Given the description of an element on the screen output the (x, y) to click on. 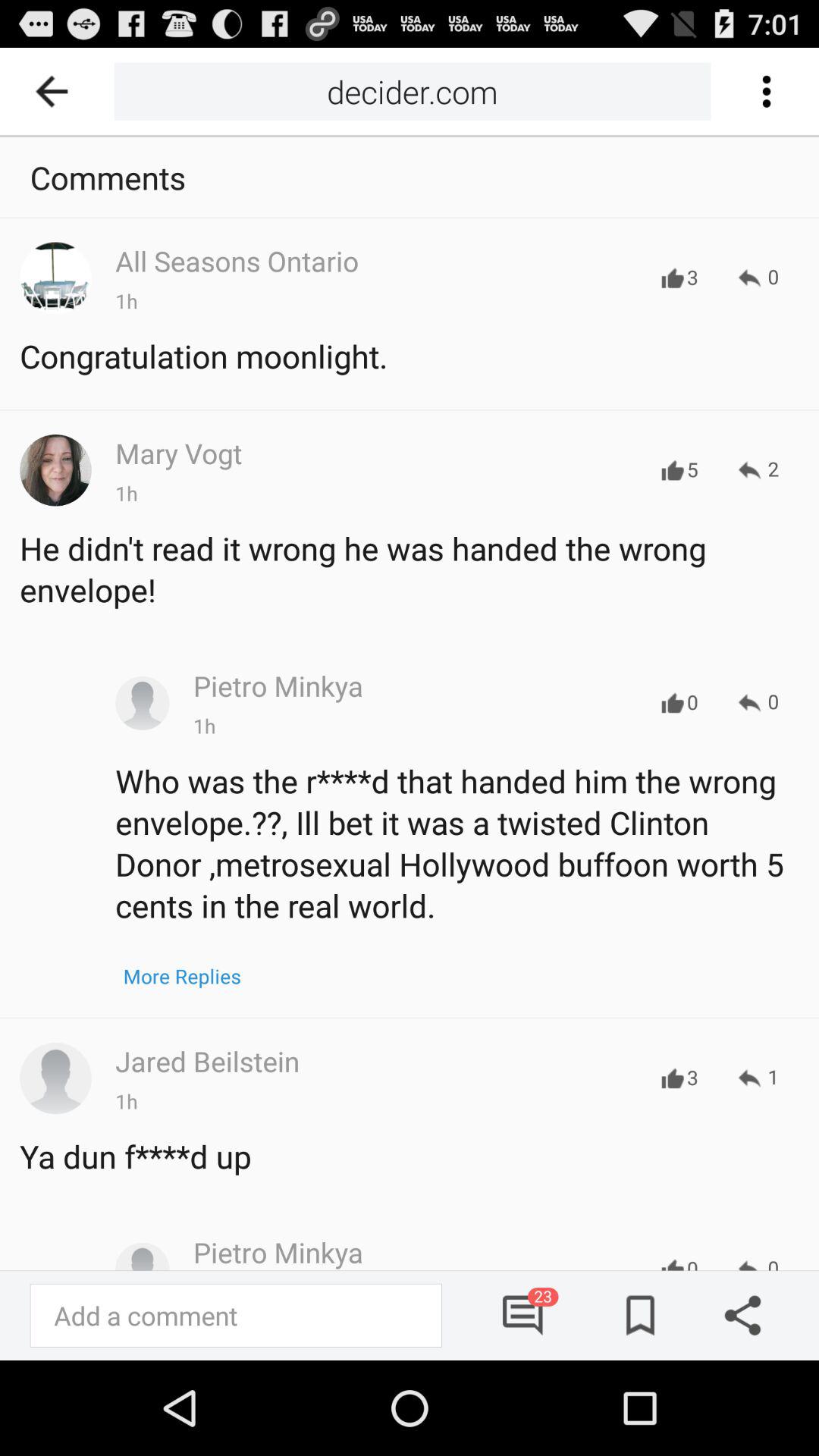
swipe until the 1 item (758, 1078)
